Given the description of an element on the screen output the (x, y) to click on. 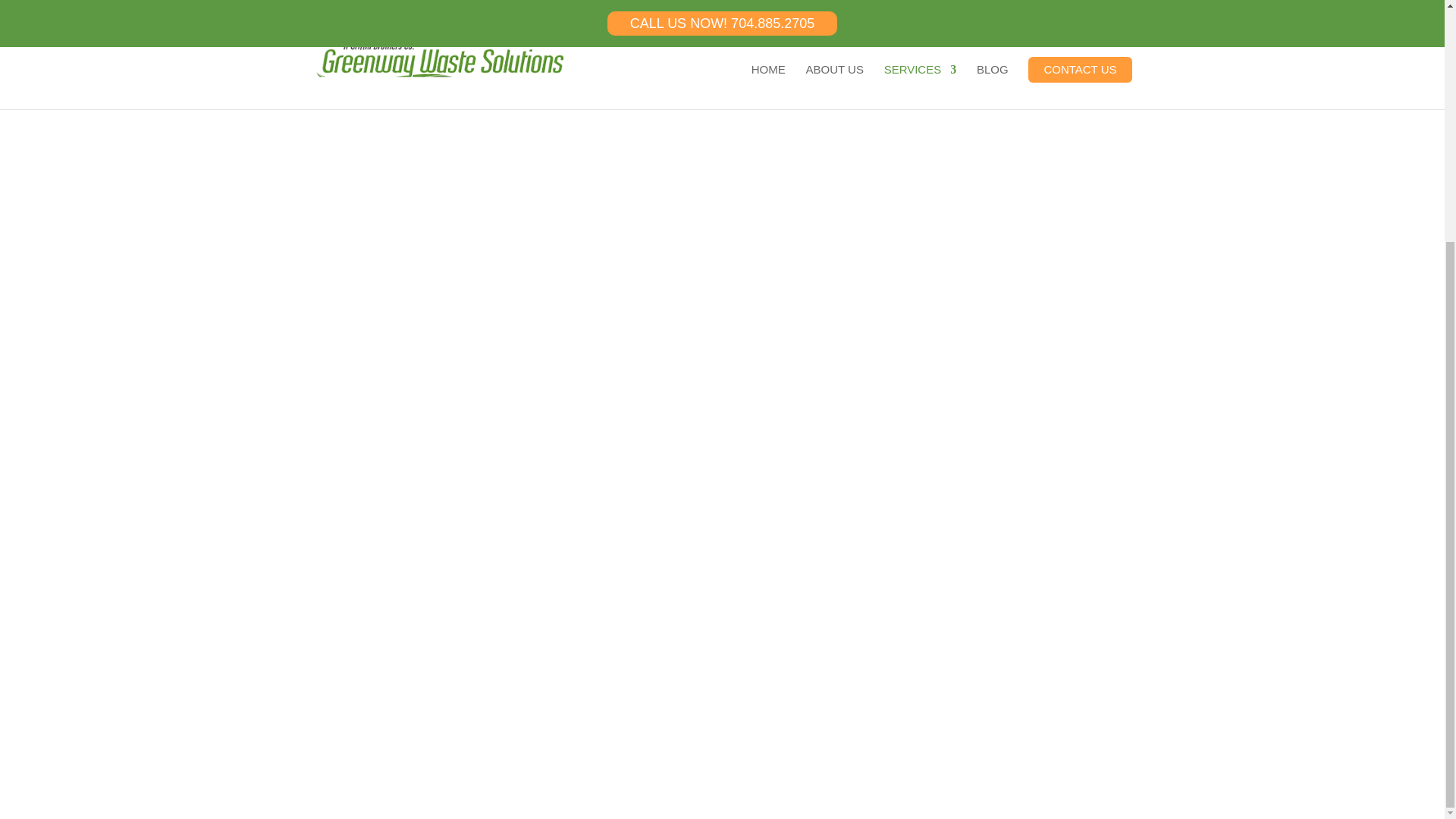
Our Story (542, 606)
Online Quote (721, 507)
call our professional staff today (690, 339)
Our Team (542, 628)
Book Now (447, 507)
Contact Us (995, 507)
